Given the description of an element on the screen output the (x, y) to click on. 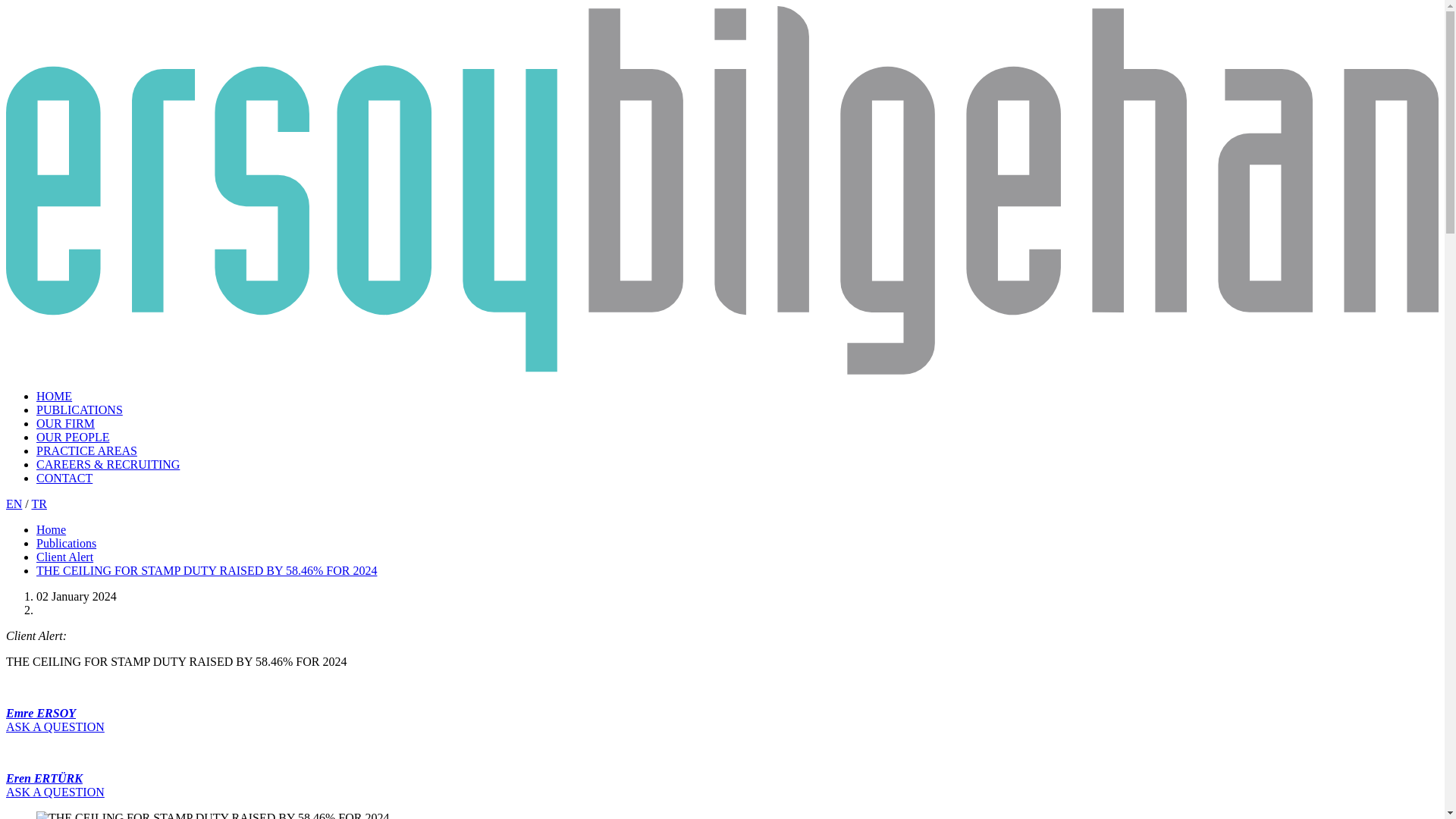
OUR FIRM (65, 422)
HOME (53, 395)
Home (50, 529)
ASK A QUESTION (54, 791)
EN (13, 503)
CONTACT (64, 477)
Publications (66, 543)
ASK A QUESTION (54, 726)
TR (38, 503)
Client Alert (64, 556)
